Given the description of an element on the screen output the (x, y) to click on. 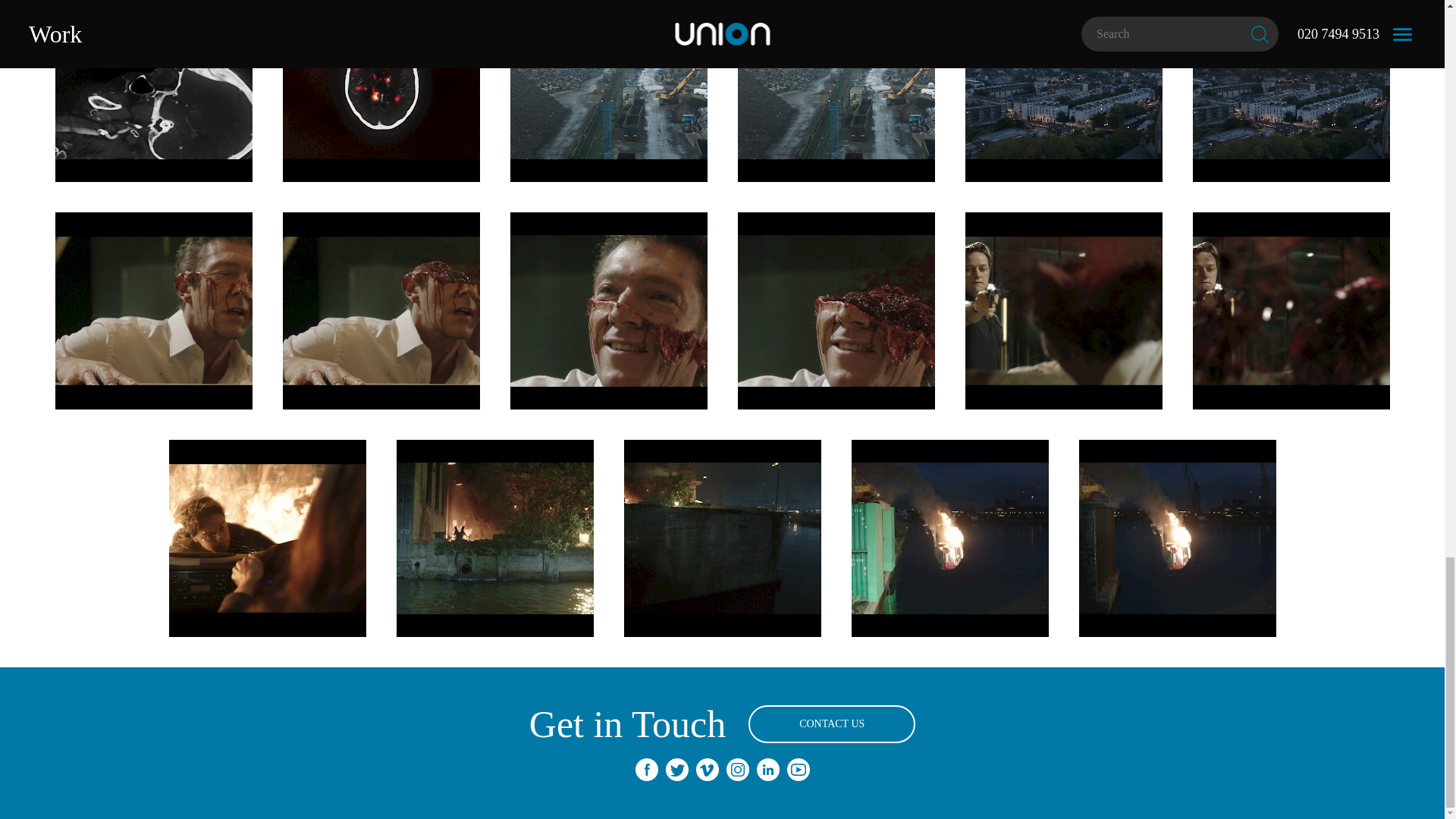
CONTACT US (831, 723)
in (767, 769)
tw (676, 769)
v (707, 769)
insta (737, 769)
yt (798, 769)
fb (646, 769)
